Given the description of an element on the screen output the (x, y) to click on. 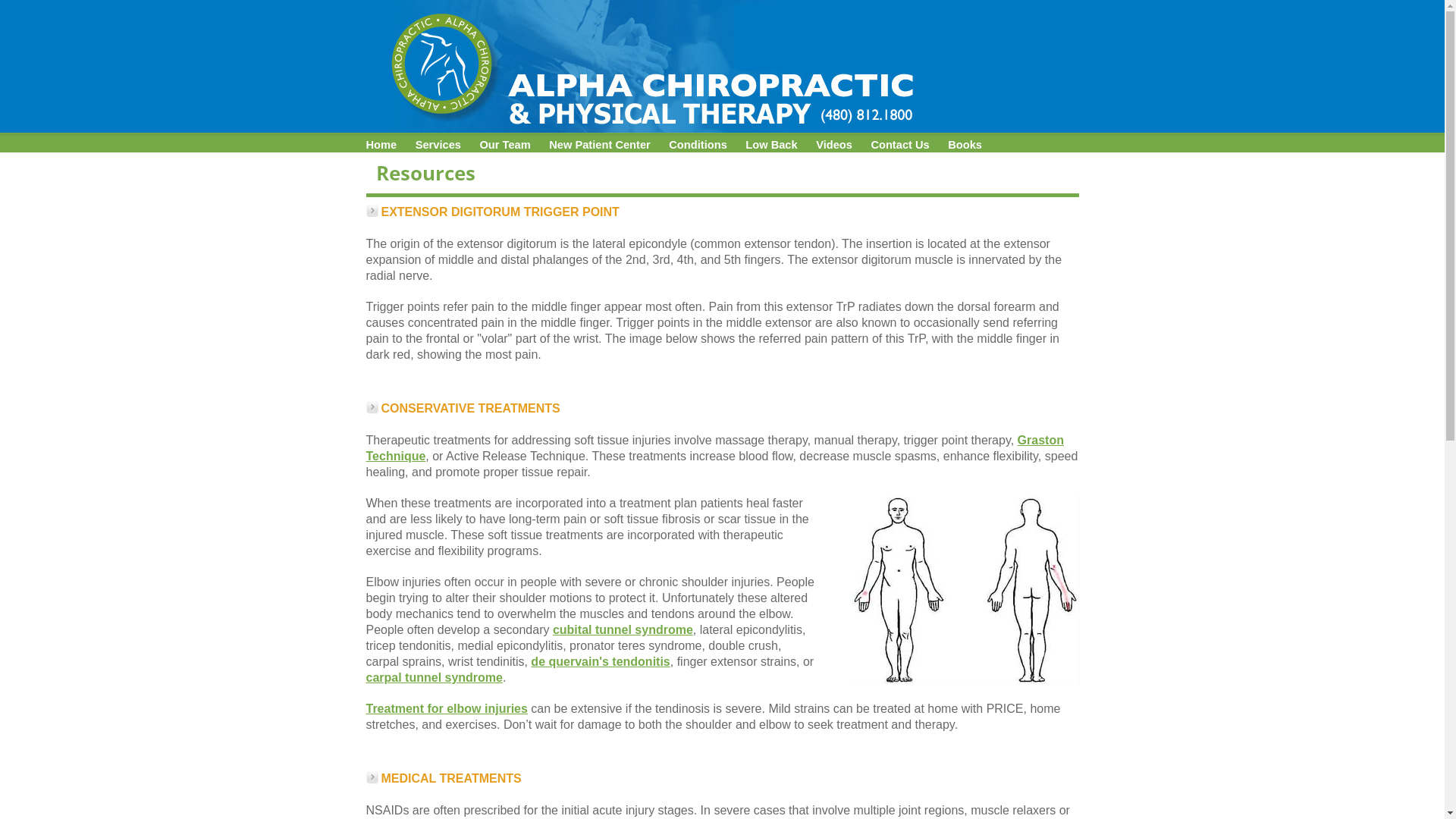
Home (381, 145)
Treatment for elbow injuries (446, 707)
Graston Technique (713, 448)
Low Back (771, 145)
cubital tunnel syndrome (623, 629)
Videos (834, 145)
Books (965, 145)
Services (437, 145)
Conditions (698, 145)
de quervain's tendonitis (600, 661)
carpal tunnel syndrome (433, 676)
Our Team (504, 145)
Contact Us (899, 145)
New Patient Center (599, 145)
